Given the description of an element on the screen output the (x, y) to click on. 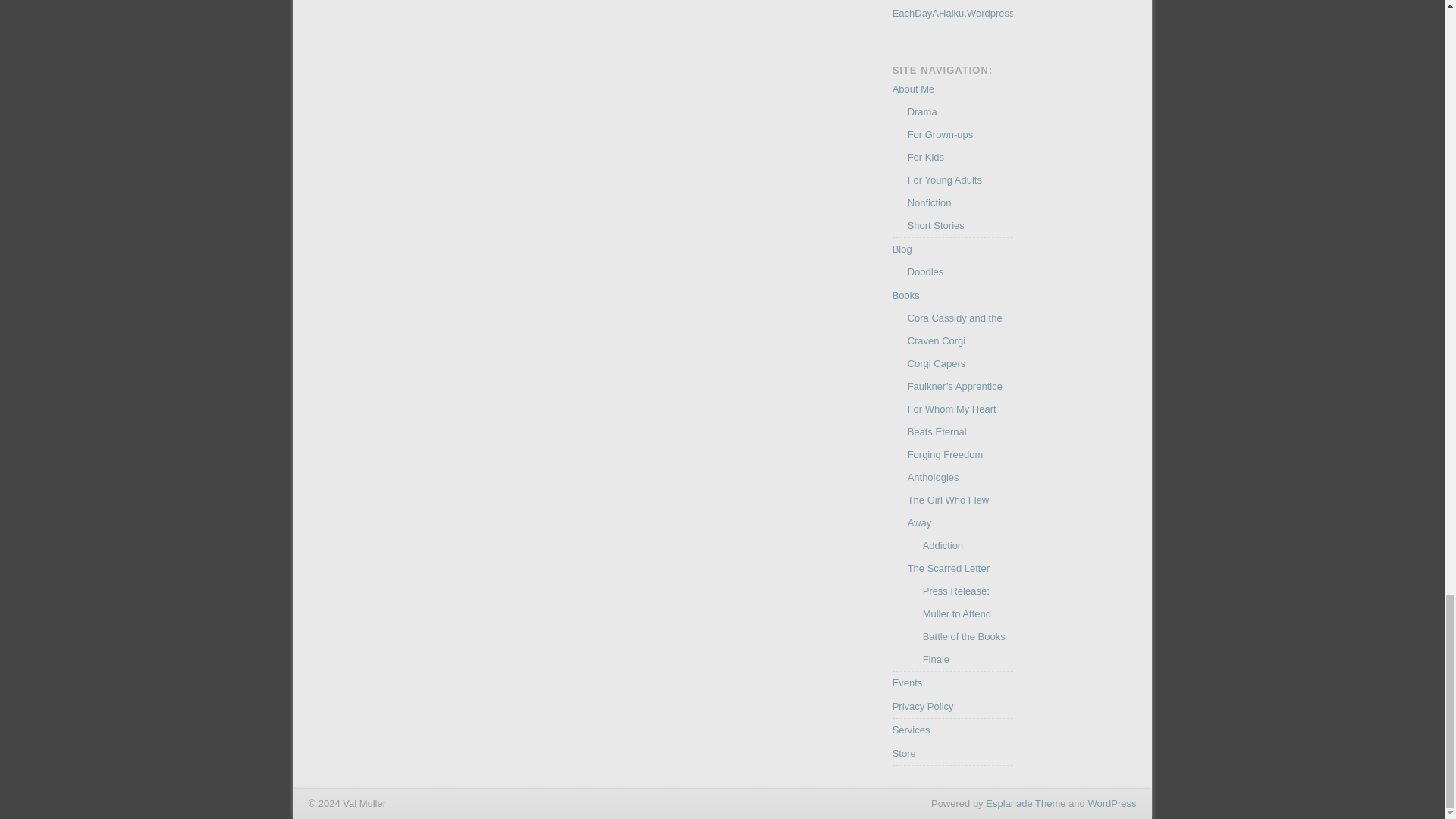
WordPress (1111, 803)
Esplanade Theme (1025, 803)
EachDayAHaiku.Wordpress.Com (965, 12)
About Me (913, 89)
